Given the description of an element on the screen output the (x, y) to click on. 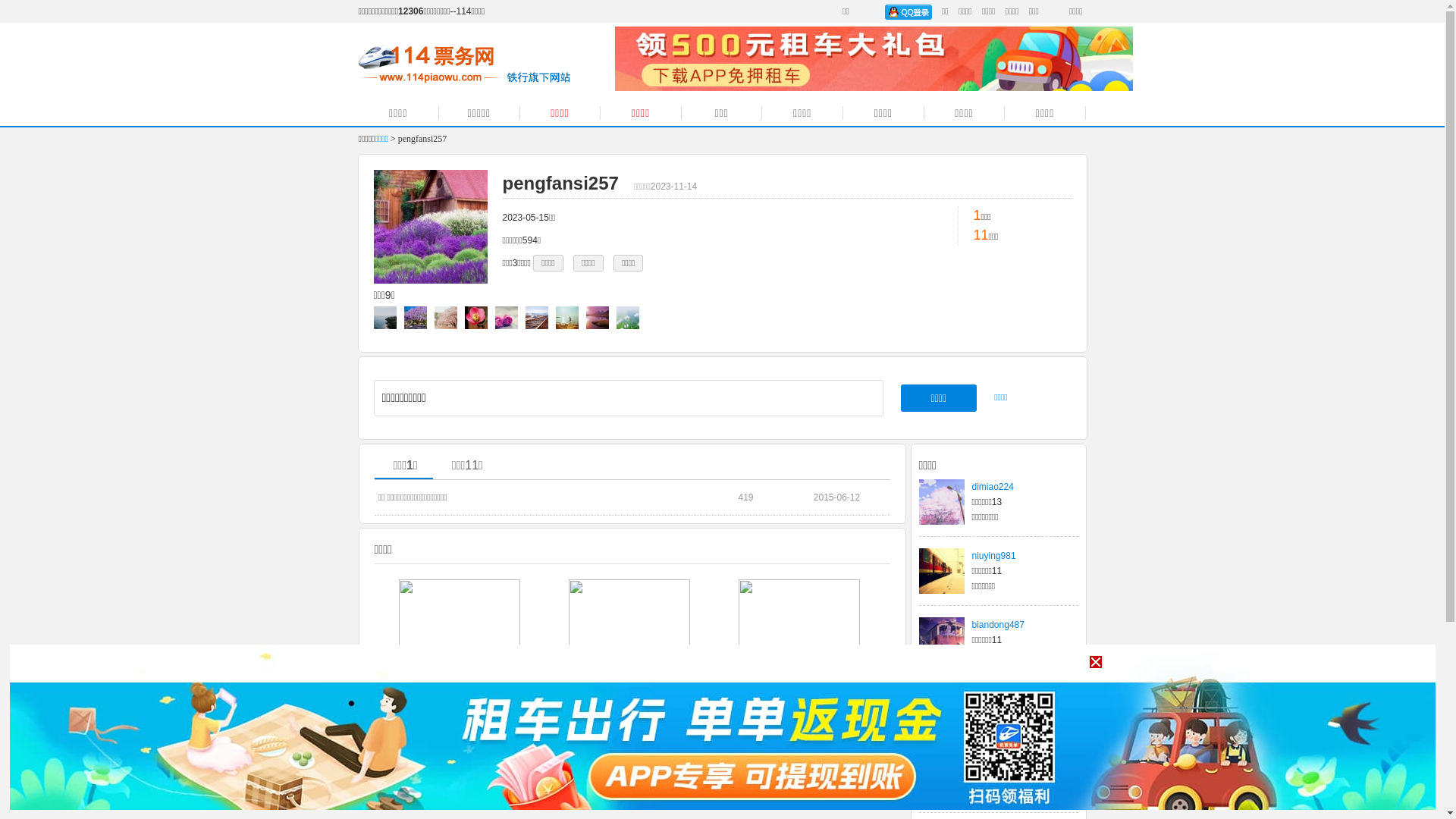
zhongcaosi477 Element type: text (1002, 693)
niuying981 Element type: text (994, 555)
qintianci157 Element type: text (996, 762)
biandong487 Element type: text (998, 624)
dimiao224 Element type: text (992, 486)
